Given the description of an element on the screen output the (x, y) to click on. 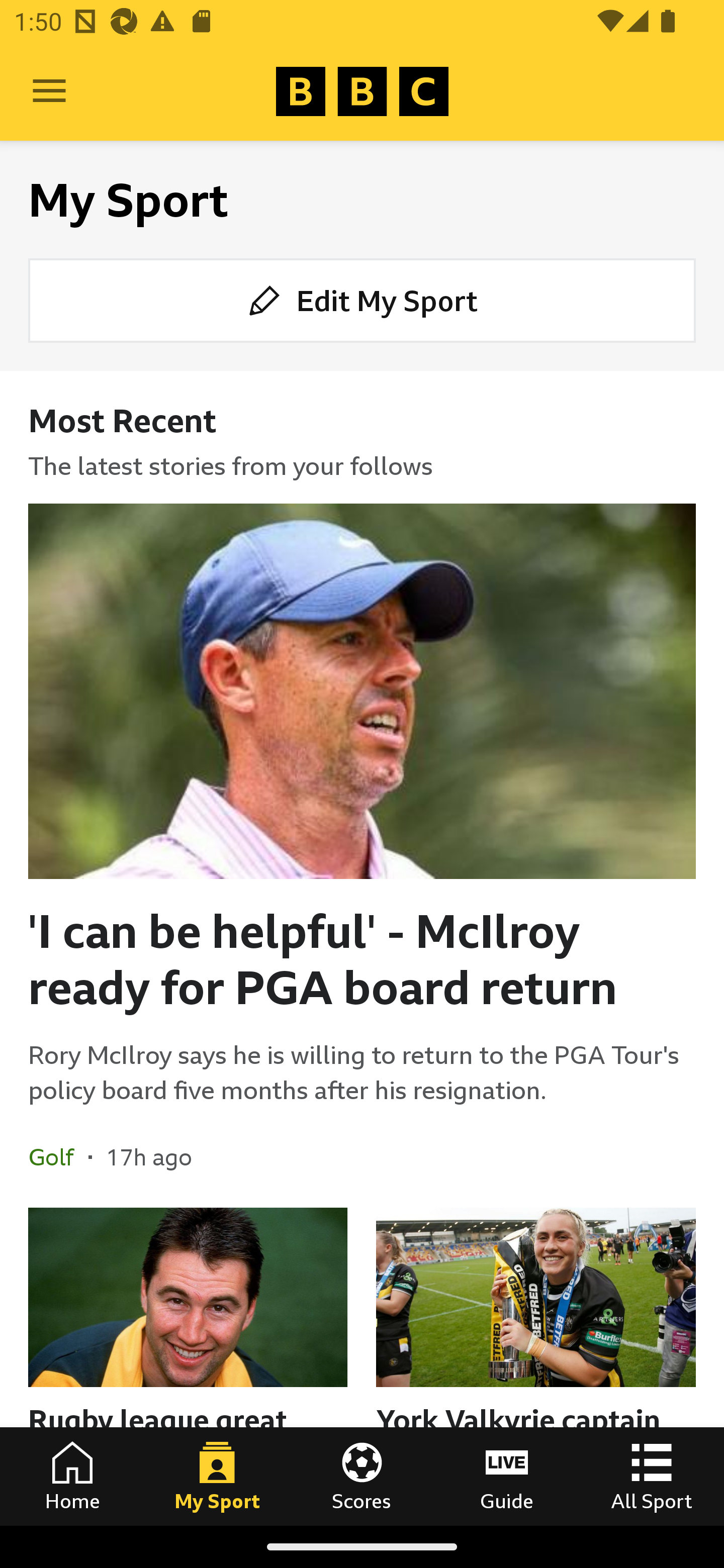
Open Menu (49, 91)
Edit My Sport (361, 300)
Golf In the section Golf (58, 1156)
Home (72, 1475)
Scores (361, 1475)
Guide (506, 1475)
All Sport (651, 1475)
